Given the description of an element on the screen output the (x, y) to click on. 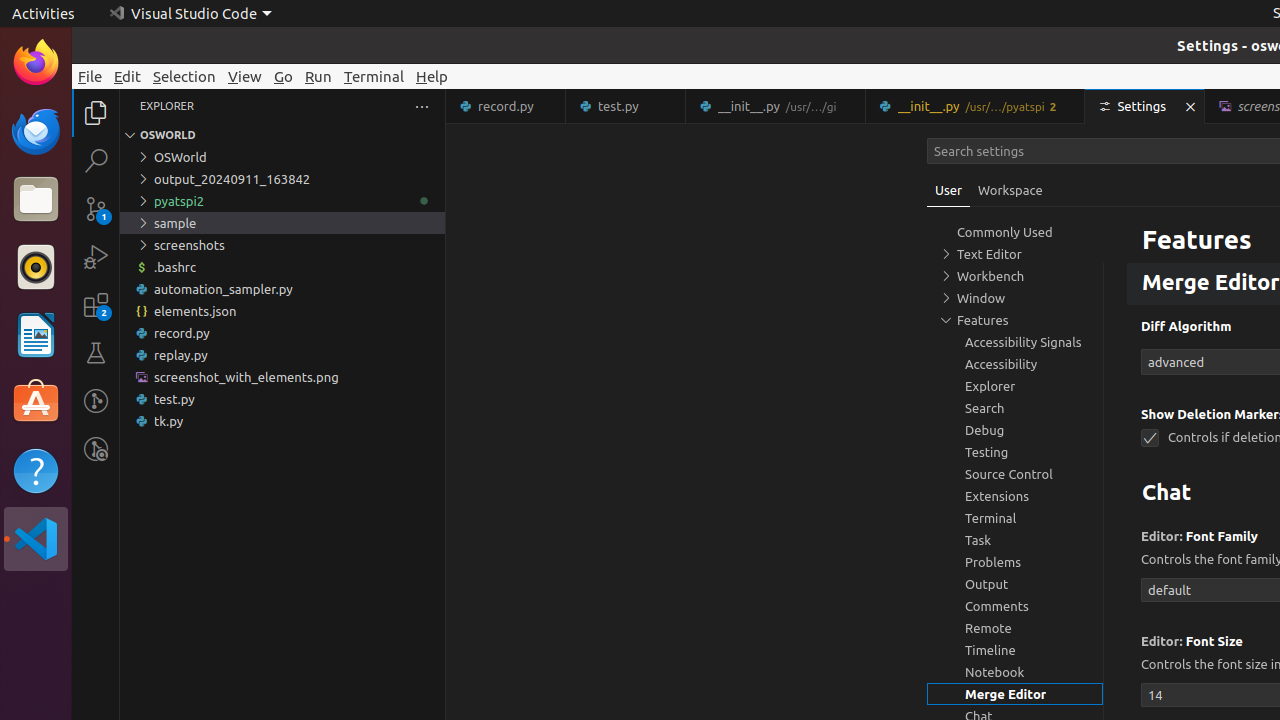
Features, group Element type: tree-item (1015, 320)
Problems, group Element type: tree-item (1015, 562)
output_20240911_163842 Element type: tree-item (282, 179)
screenshot_with_elements.png Element type: tree-item (282, 377)
Testing, group Element type: tree-item (1015, 452)
